Given the description of an element on the screen output the (x, y) to click on. 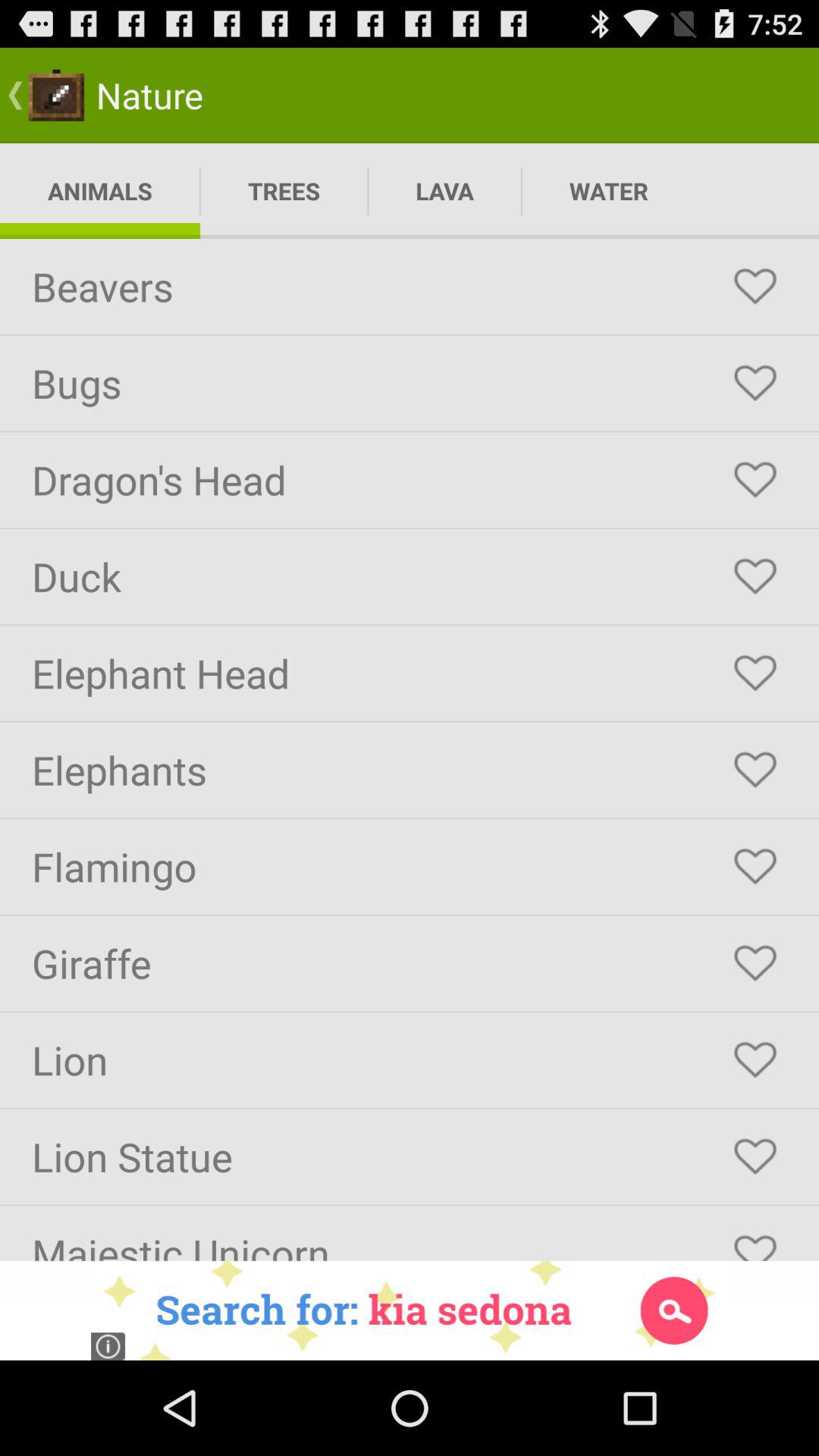
add to favorites (755, 866)
